Given the description of an element on the screen output the (x, y) to click on. 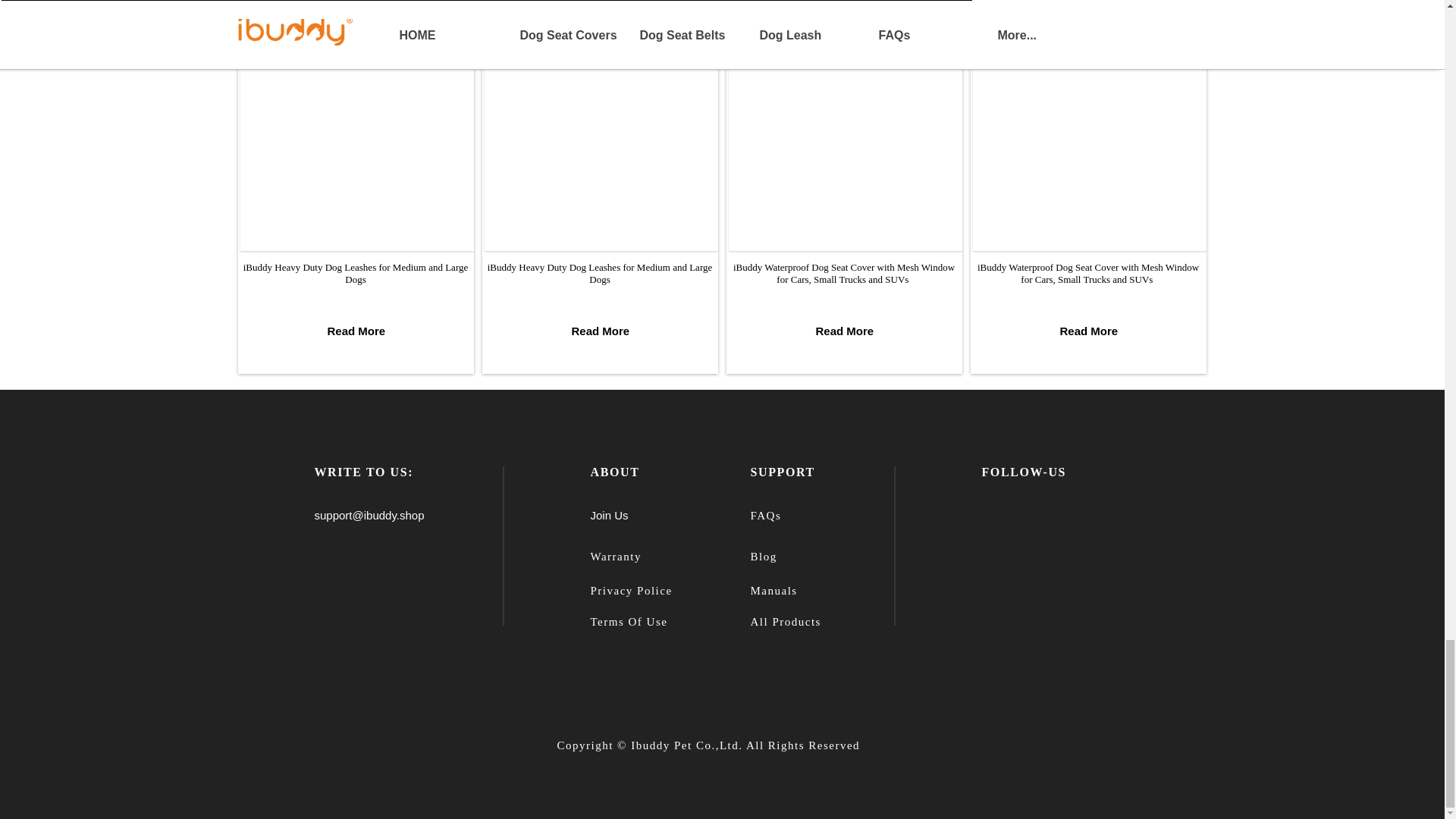
Read More (601, 330)
Terms Of Use (627, 621)
Warranty (614, 556)
Read More (845, 330)
Privacy Police (630, 590)
Read More (1088, 330)
Read More (356, 330)
Join Us (608, 514)
